Given the description of an element on the screen output the (x, y) to click on. 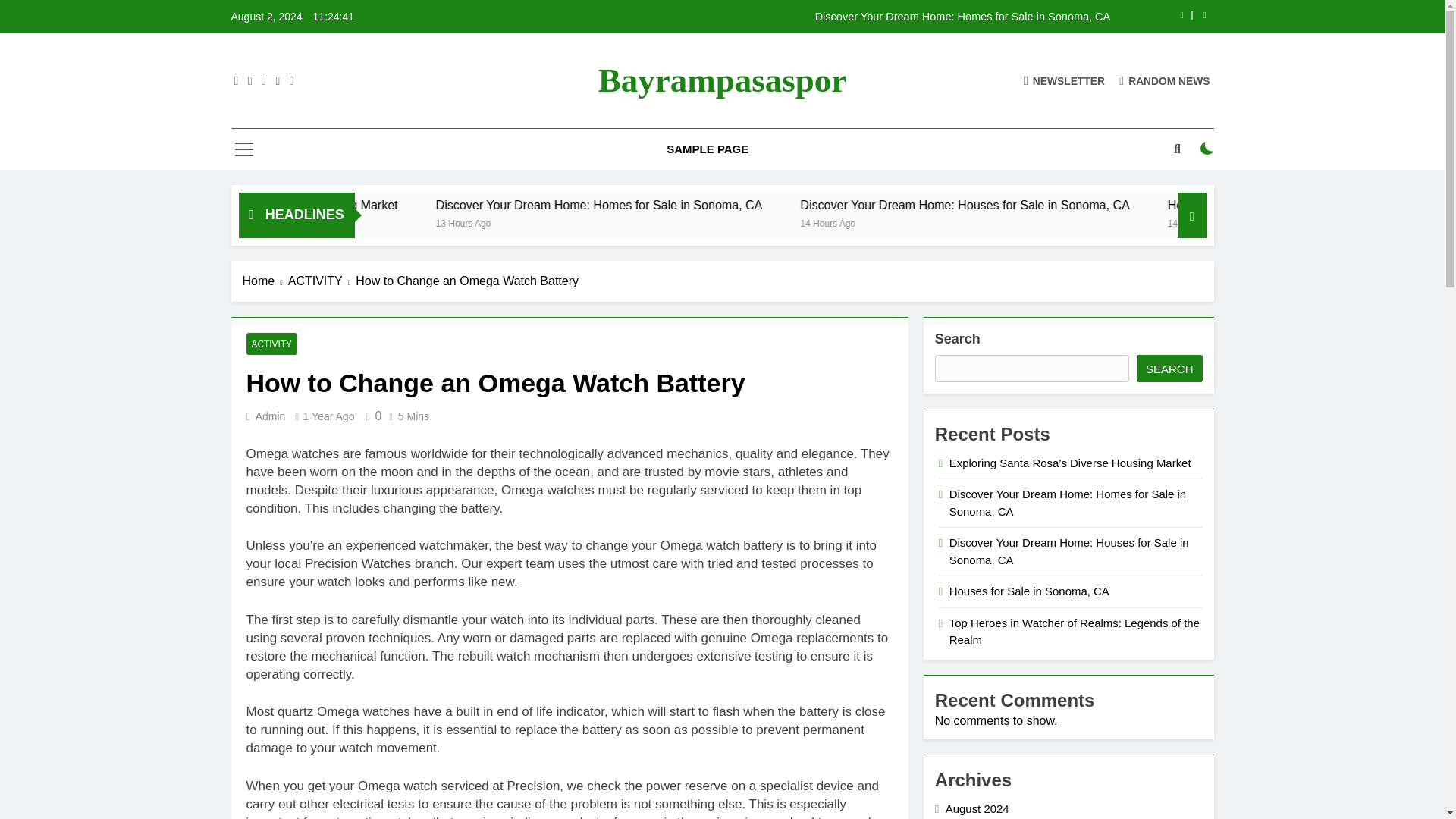
RANDOM NEWS (1164, 80)
Discover Your Dream Home: Homes for Sale in Sonoma, CA (817, 16)
13 Hours Ago (650, 222)
Discover Your Dream Home: Homes for Sale in Sonoma, CA (748, 205)
Discover Your Dream Home: Homes for Sale in Sonoma, CA (817, 16)
Discover Your Dream Home: Homes for Sale in Sonoma, CA (787, 205)
Discover Your Dream Home: Houses for Sale in Sonoma, CA (1149, 205)
Bayrampasaspor (722, 80)
Discover Your Dream Home: Houses for Sale in Sonoma, CA (1110, 205)
NEWSLETTER (1064, 80)
